Given the description of an element on the screen output the (x, y) to click on. 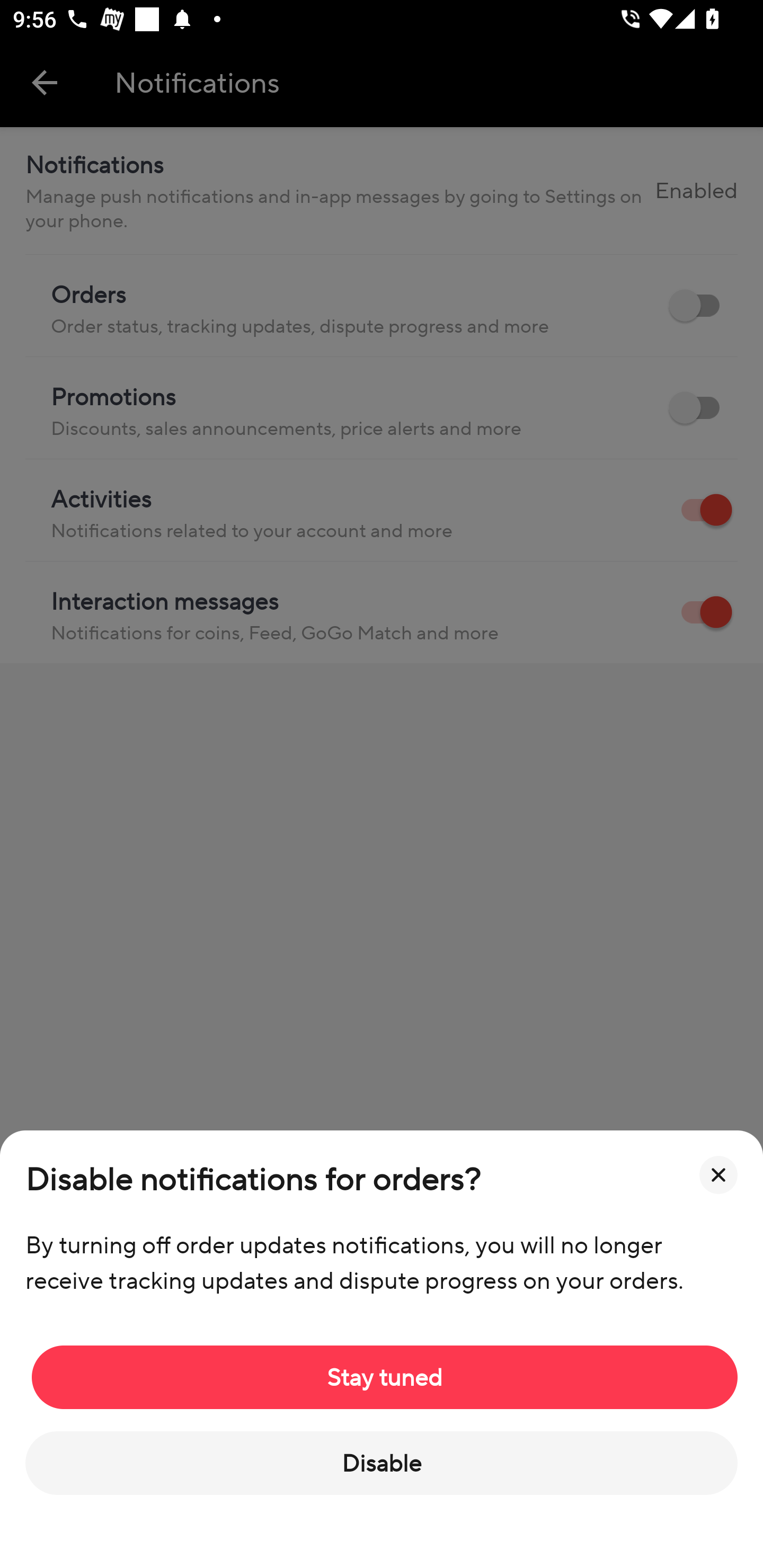
Stay tuned (384, 1377)
Disable (381, 1462)
